Given the description of an element on the screen output the (x, y) to click on. 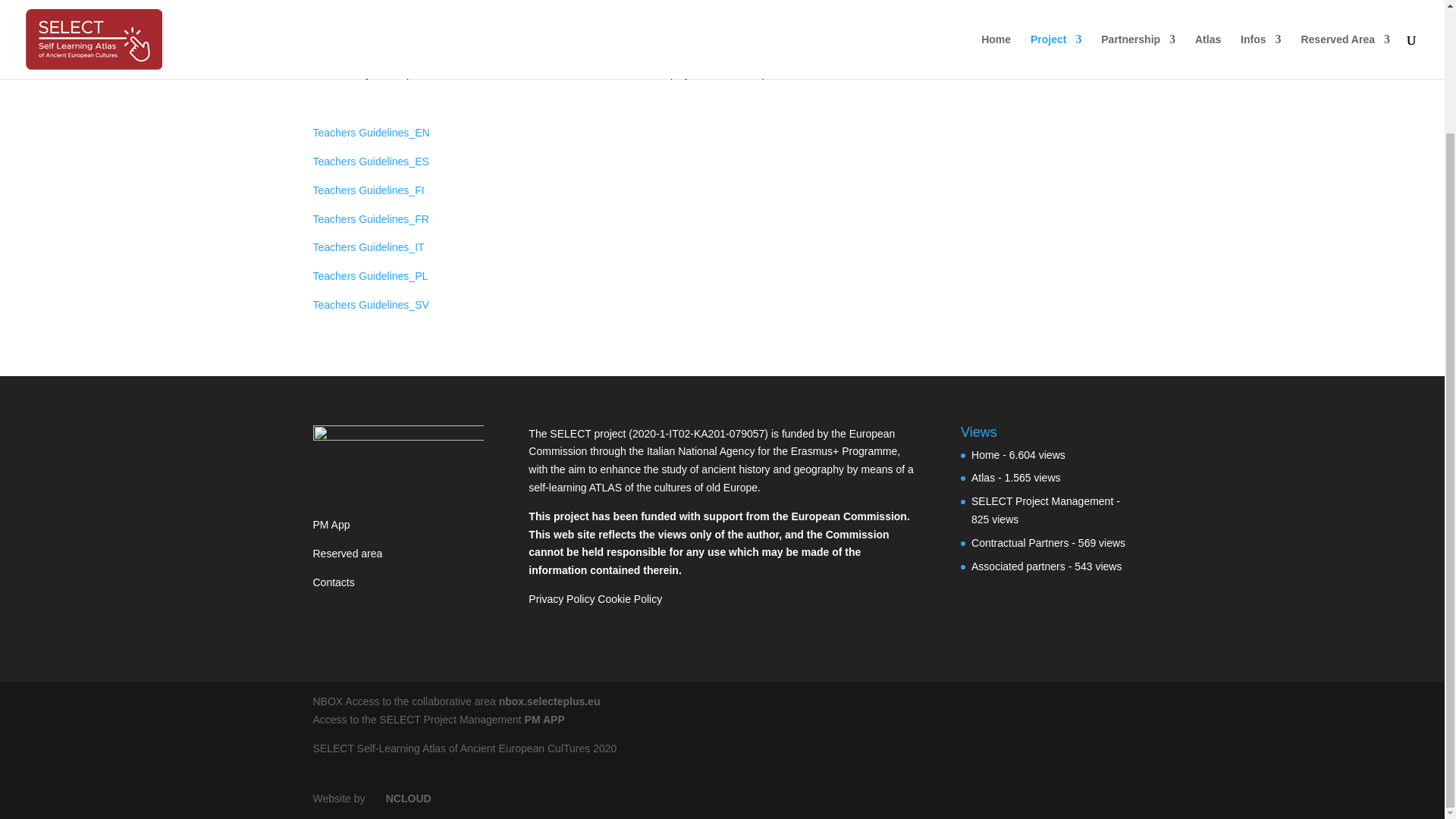
SELECT Project Management (1042, 500)
Associated partners (1018, 566)
Privacy Policy (561, 598)
Home (984, 454)
Associated partners (1018, 566)
Atlas (982, 477)
Atlas (982, 477)
Reserved area (347, 553)
Privacy Policy  (561, 598)
Home (984, 454)
